Given the description of an element on the screen output the (x, y) to click on. 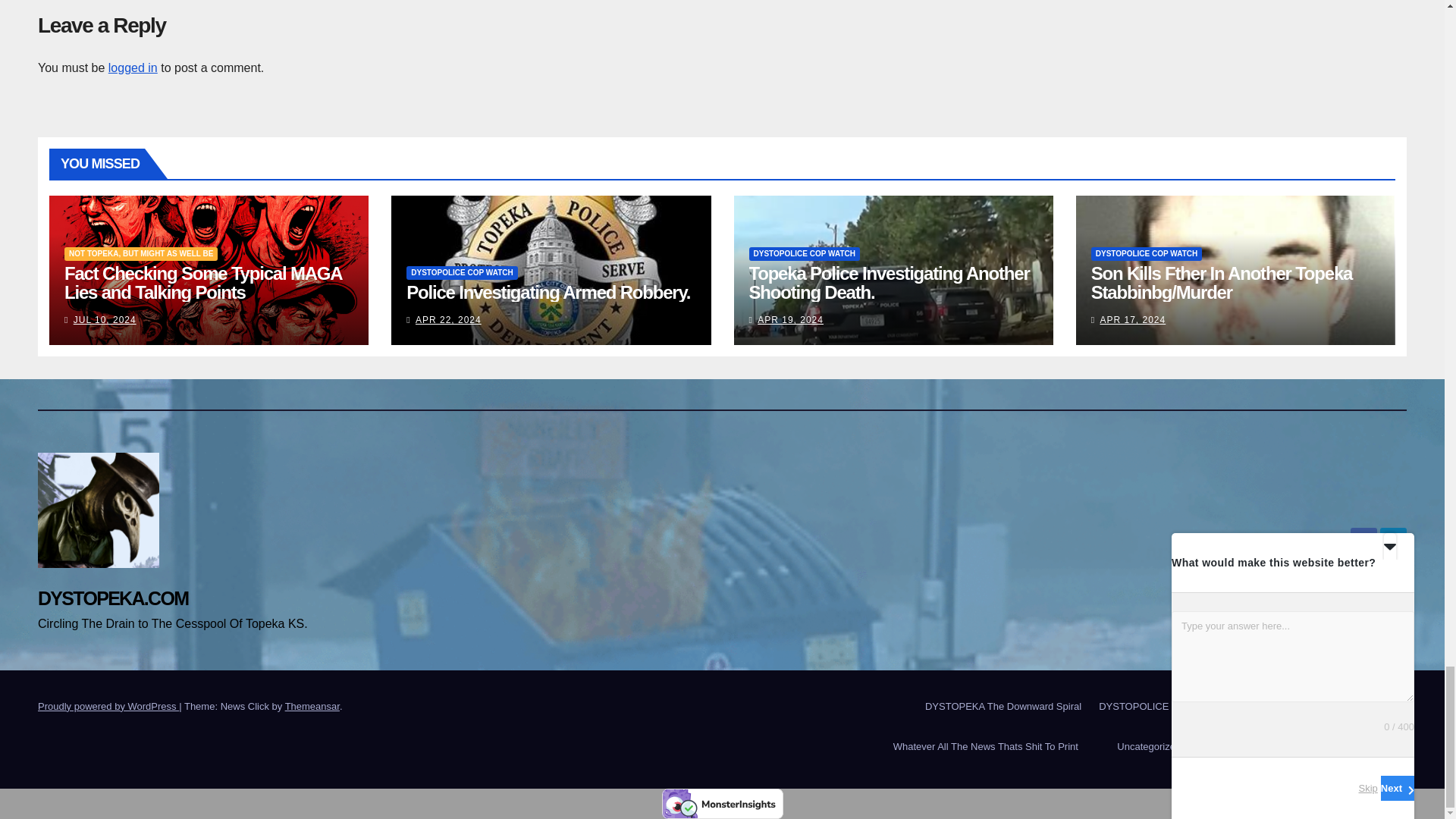
The Police Are Defunding US! (1158, 706)
This Town Needs An Enema. (1001, 706)
Permalink to: Police Investigating Armed Robbery. (548, 291)
